Given the description of an element on the screen output the (x, y) to click on. 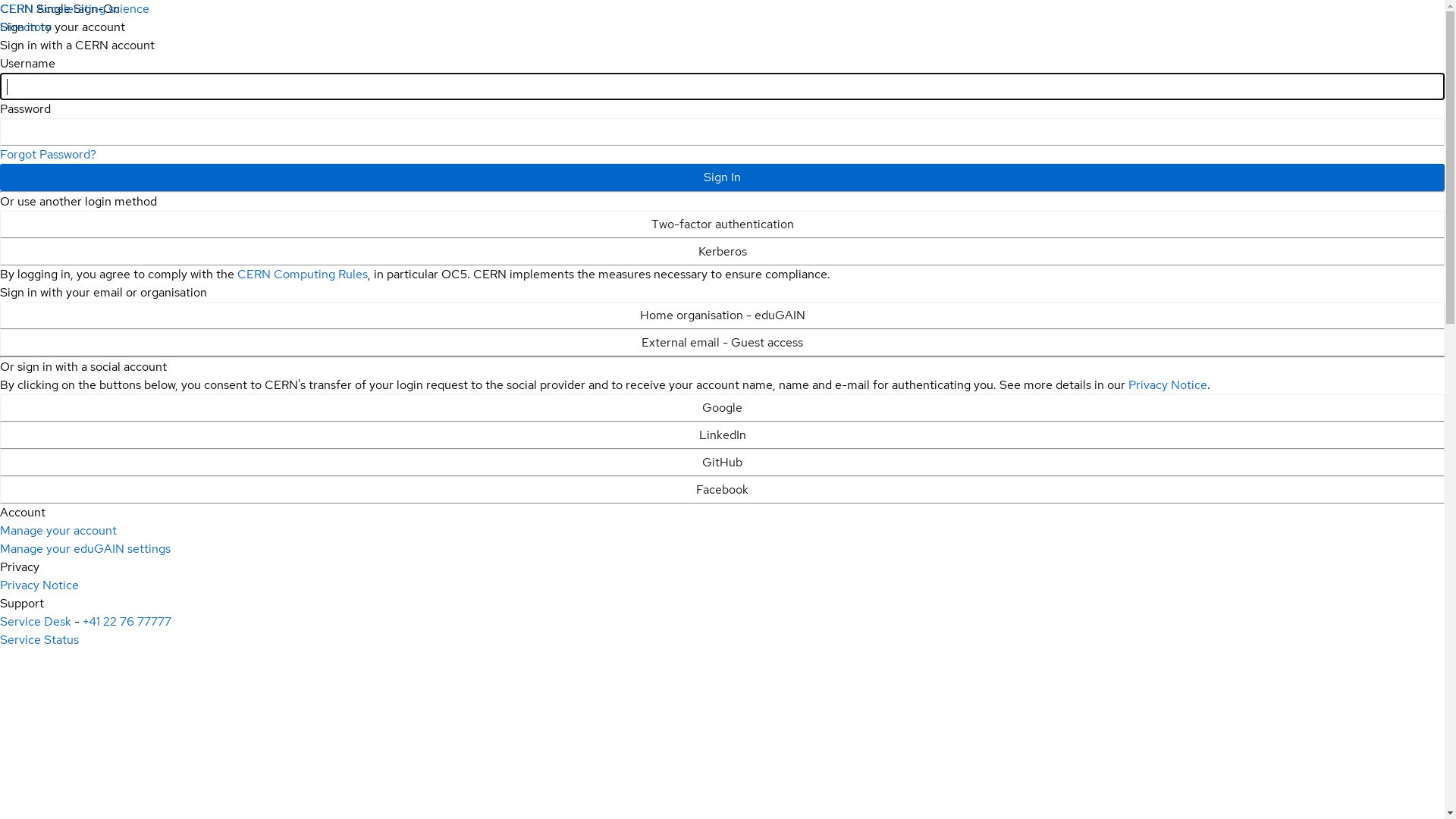
Sign In Element type: text (722, 177)
Google Element type: text (722, 407)
Facebook Element type: text (722, 489)
Privacy Notice Element type: text (39, 585)
Two-factor authentication Element type: text (722, 224)
Service Desk Element type: text (35, 621)
Directory Element type: text (25, 26)
Kerberos Element type: text (722, 251)
Forgot Password? Element type: text (48, 154)
Service Status Element type: text (39, 639)
LinkedIn Element type: text (722, 434)
+41 22 76 77777 Element type: text (126, 621)
Manage your eduGAIN settings Element type: text (85, 548)
CERN Computing Rules Element type: text (302, 274)
GitHub Element type: text (722, 462)
Privacy Notice Element type: text (1167, 384)
External email - Guest access Element type: text (722, 342)
CERN Accelerating science Element type: text (74, 8)
Home organisation - eduGAIN Element type: text (722, 315)
Manage your account Element type: text (58, 530)
